Given the description of an element on the screen output the (x, y) to click on. 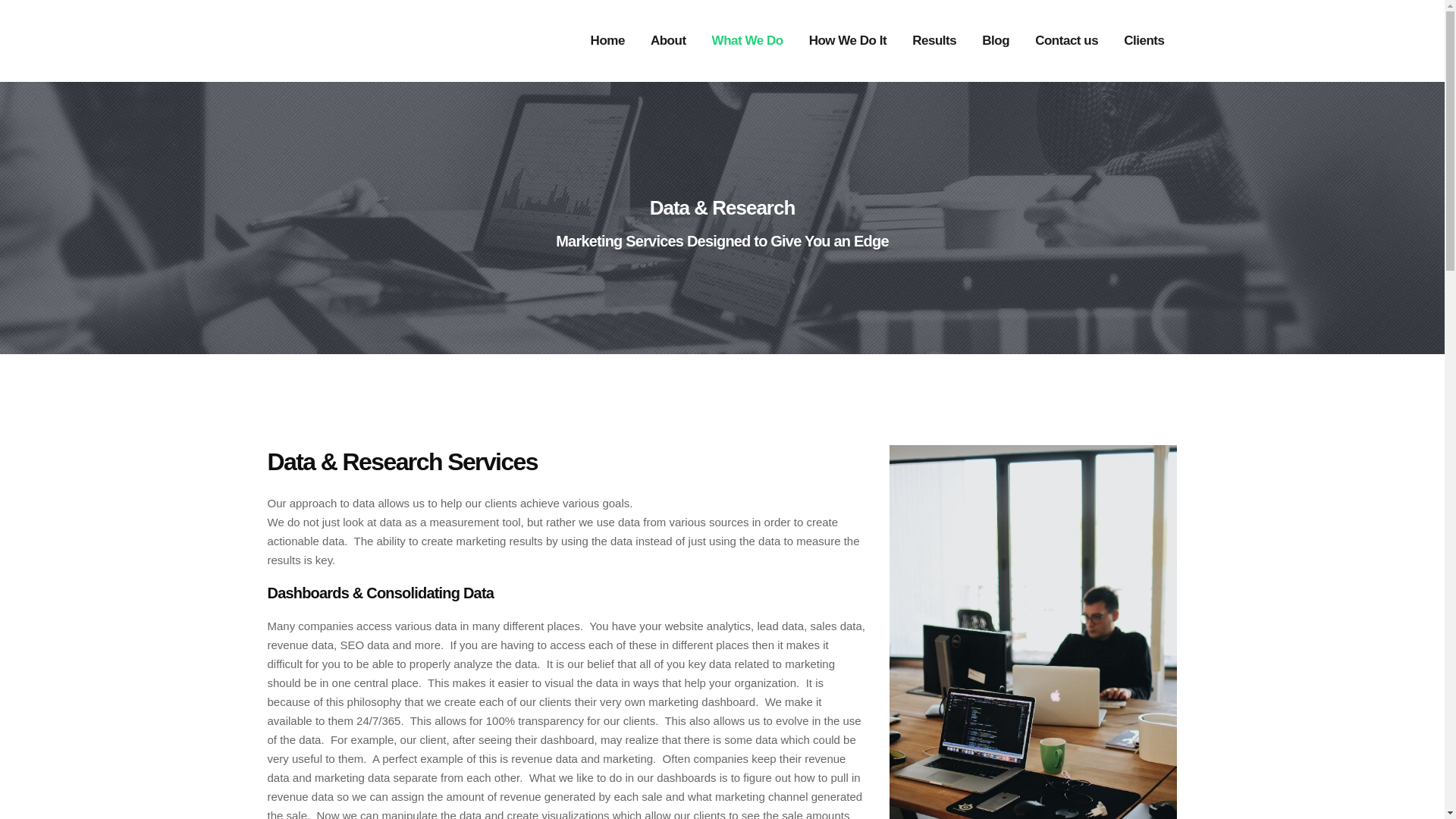
What We Do (747, 40)
How We Do It (847, 40)
Contact us (1066, 40)
